Given the description of an element on the screen output the (x, y) to click on. 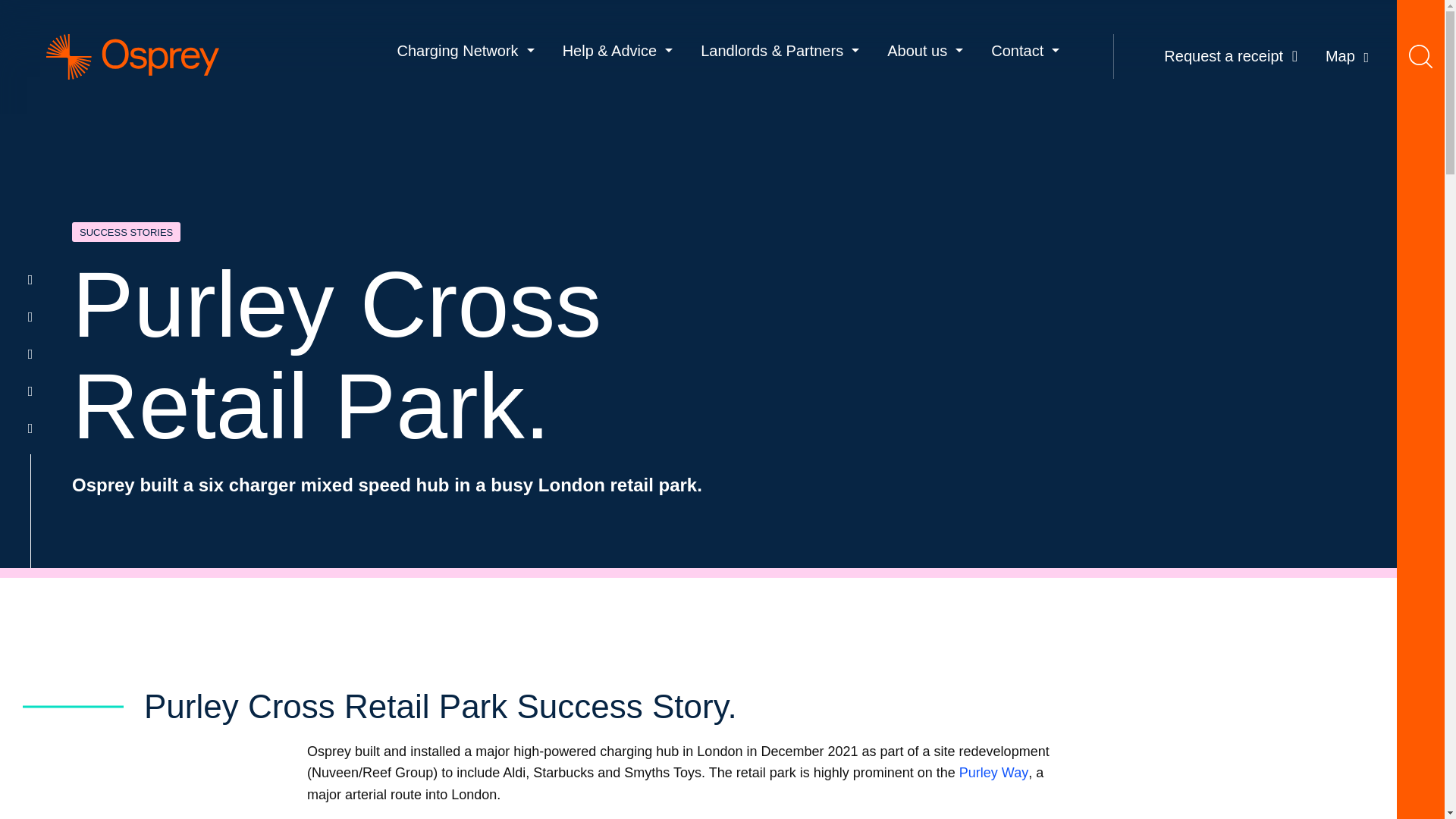
Contact (1024, 50)
Charging Network (465, 50)
About us (925, 50)
Map (1346, 56)
